Given the description of an element on the screen output the (x, y) to click on. 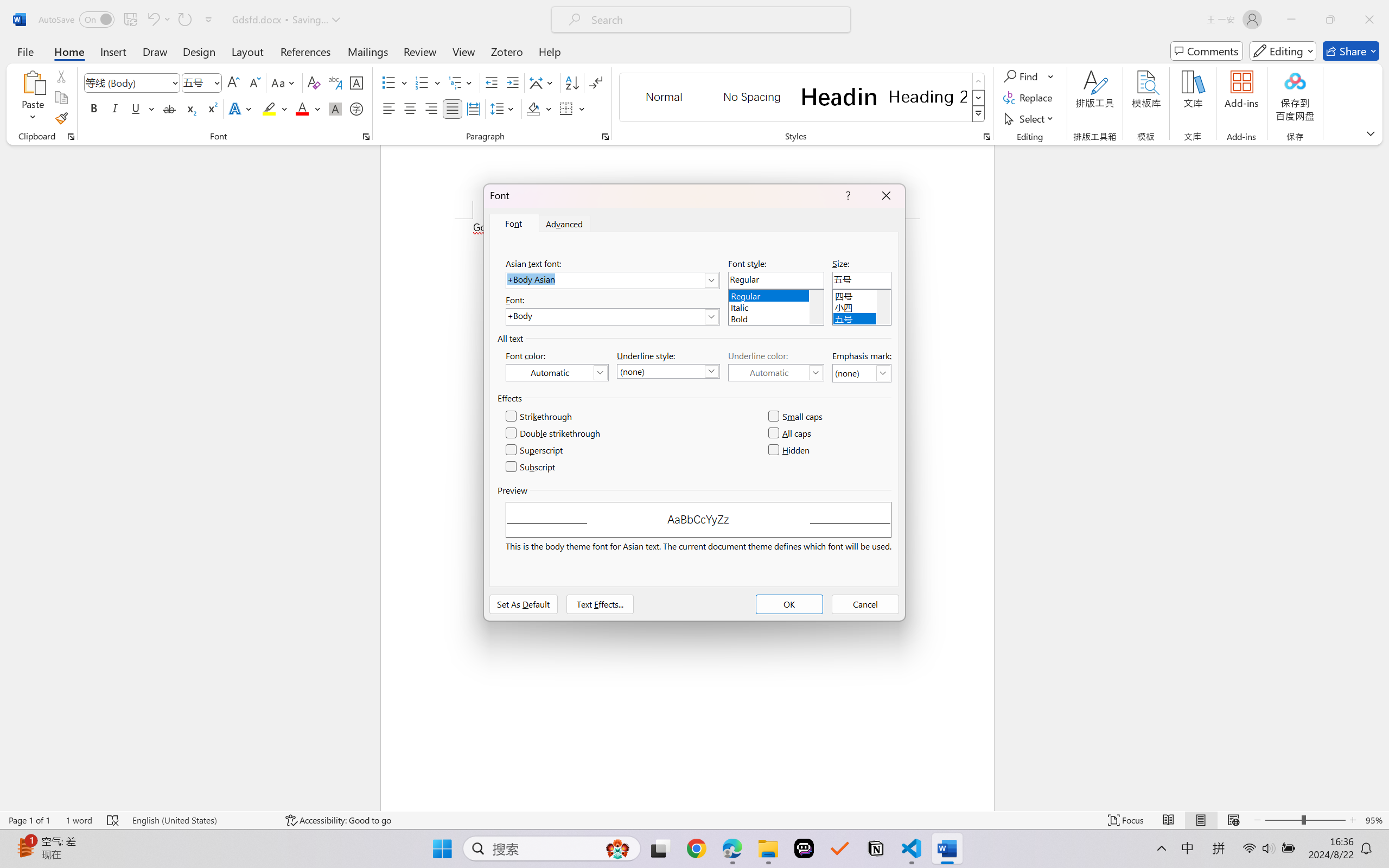
Strikethrough (539, 416)
Styles... (986, 136)
Bold (94, 108)
Undo Style (152, 19)
Shading (539, 108)
Heading 2 (927, 96)
Character Border (356, 82)
Asian Layout (542, 82)
Enclose Characters... (356, 108)
